Given the description of an element on the screen output the (x, y) to click on. 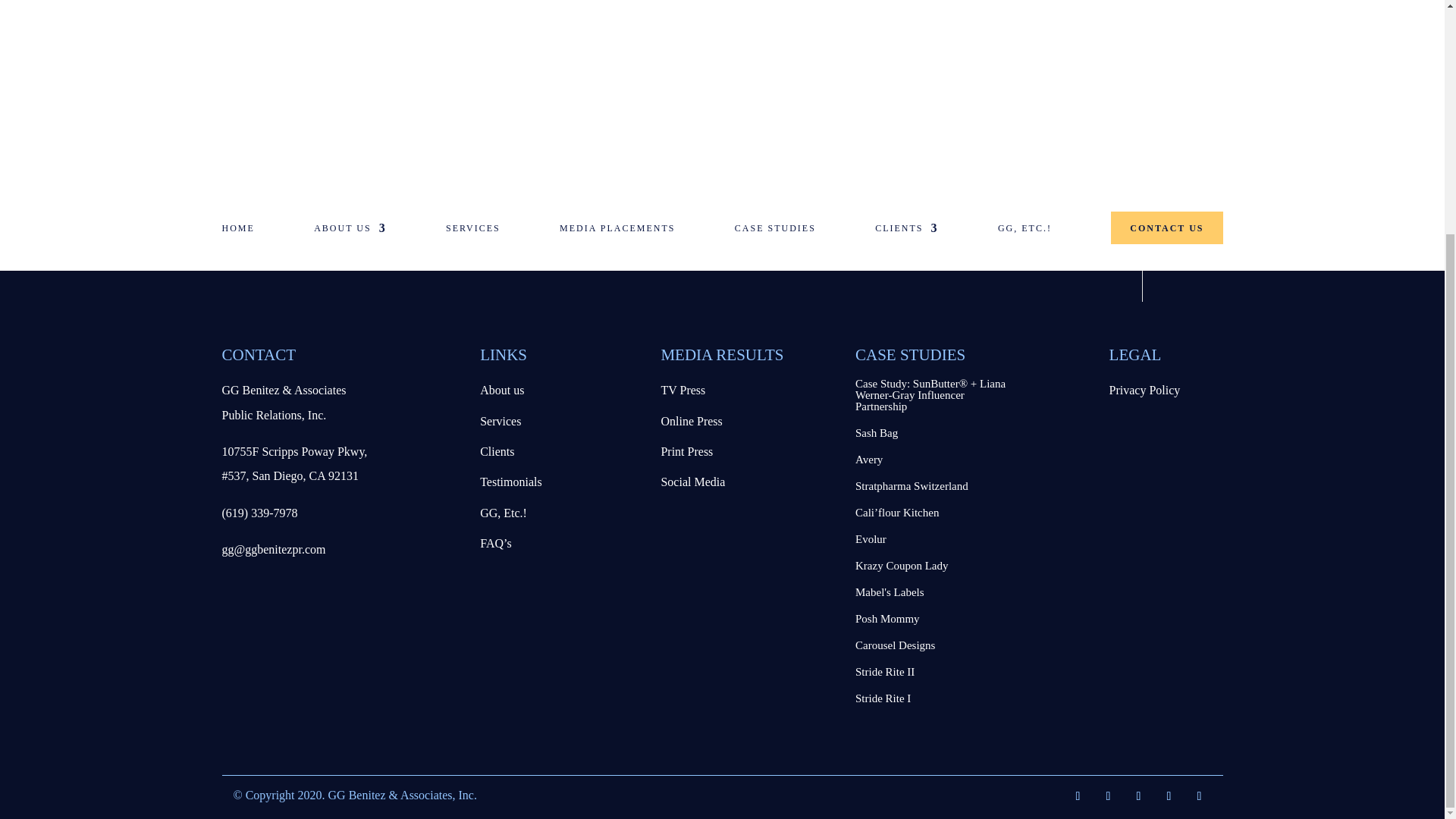
Clients (496, 451)
Testimonials (510, 481)
Evolur (871, 539)
Share (1180, 243)
Follow on Pinterest (1199, 795)
Follow on LinkedIn (1138, 795)
TV Press (682, 390)
Follow on Instagram (1168, 795)
Daniella raises money to build home for Tijuana family (1285, 11)
About us (502, 390)
